Given the description of an element on the screen output the (x, y) to click on. 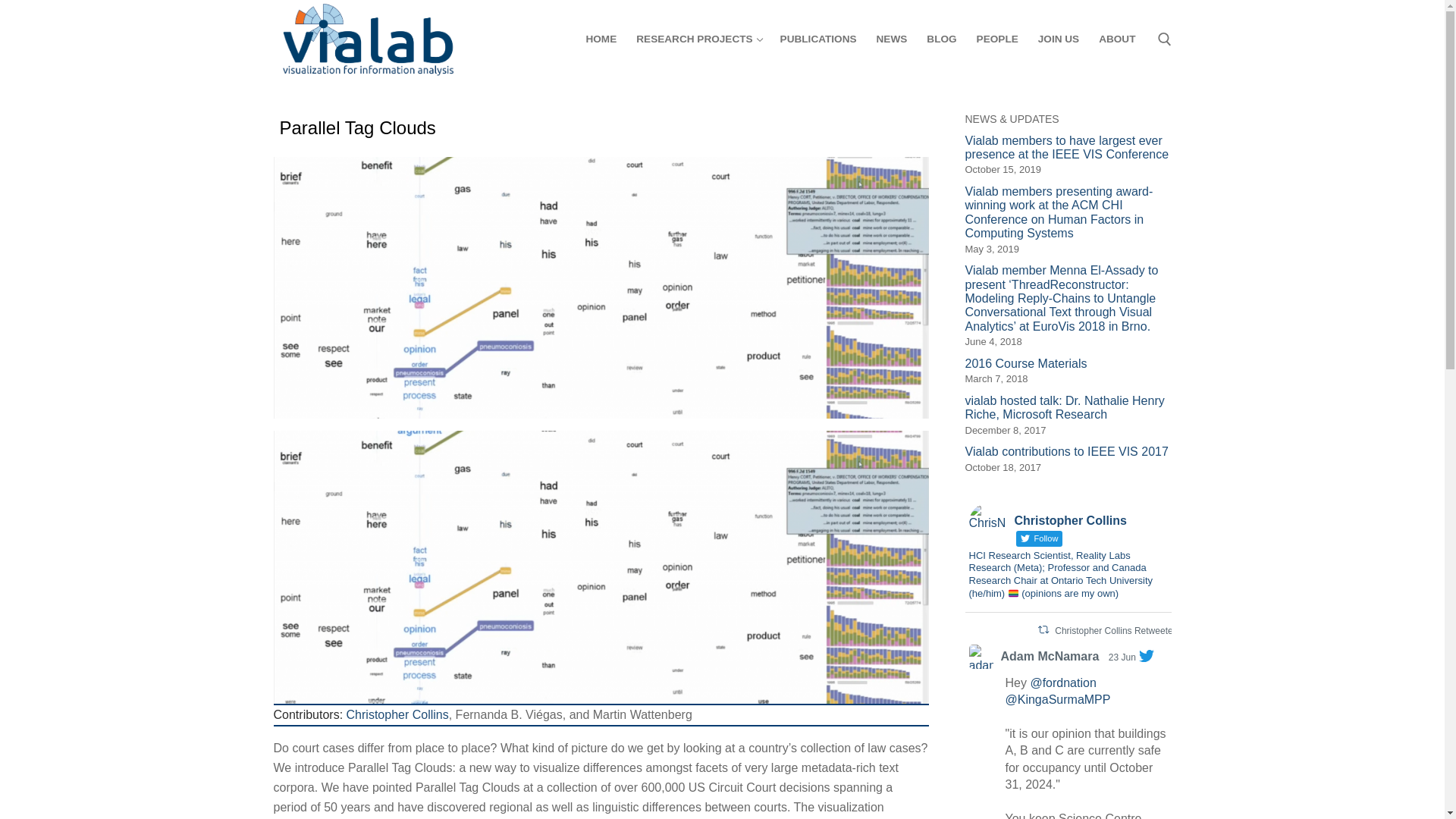
PUBLICATIONS (818, 39)
ABOUT (1116, 39)
NEWS (891, 39)
Parallel Tag Clouds (600, 127)
Vialab contributions to IEEE VIS 2017 (1066, 451)
Retweet on Twitter (1042, 629)
Christopher Collins (397, 714)
JOIN US (1058, 39)
PEOPLE (996, 39)
23 Jun (1121, 656)
HOME (600, 39)
Adam McNamara (1050, 656)
